Given the description of an element on the screen output the (x, y) to click on. 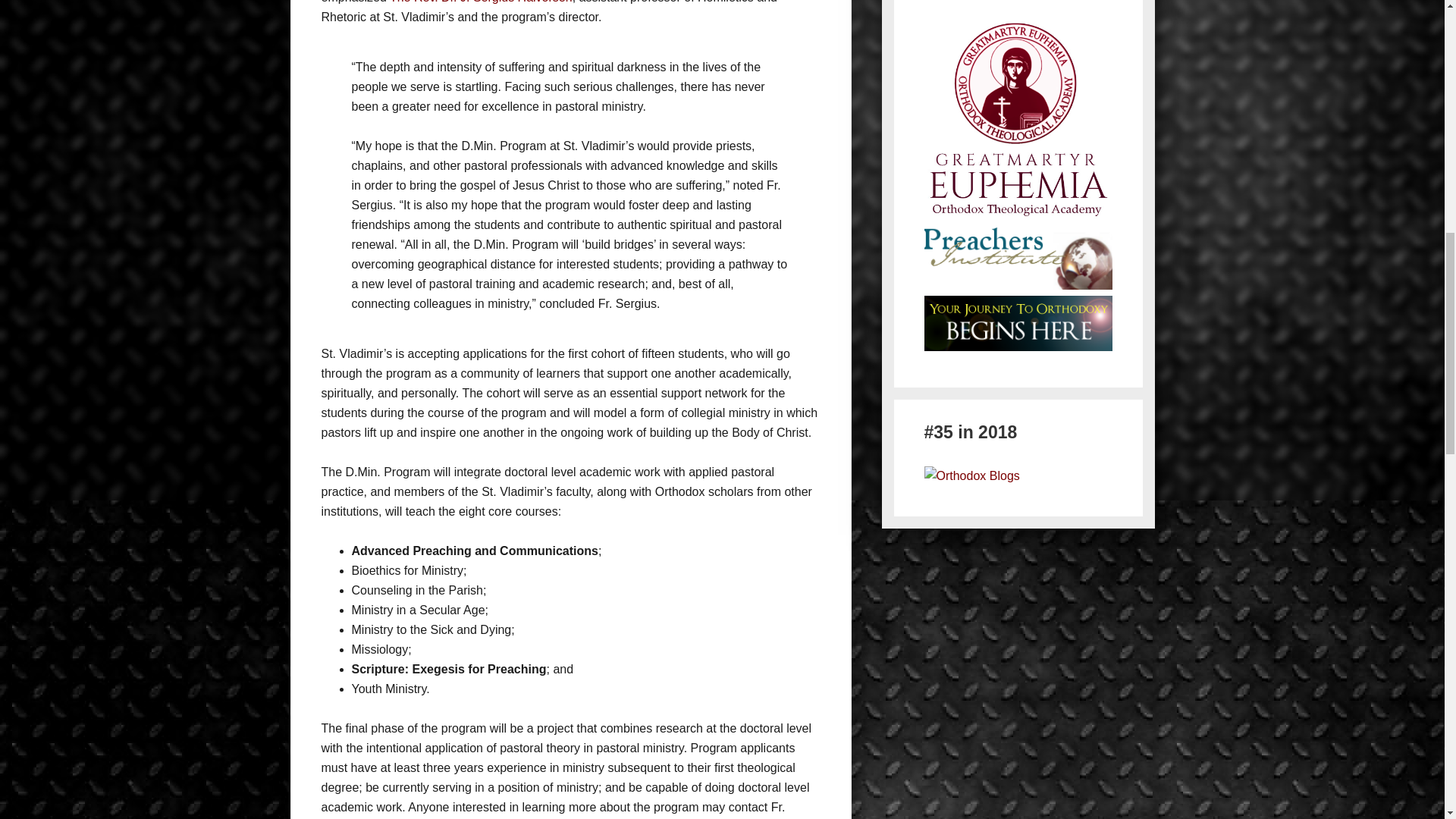
Preachers Institute (1017, 257)
Journey to Orthodoxy (1017, 323)
Orthodox blogs (971, 475)
